Given the description of an element on the screen output the (x, y) to click on. 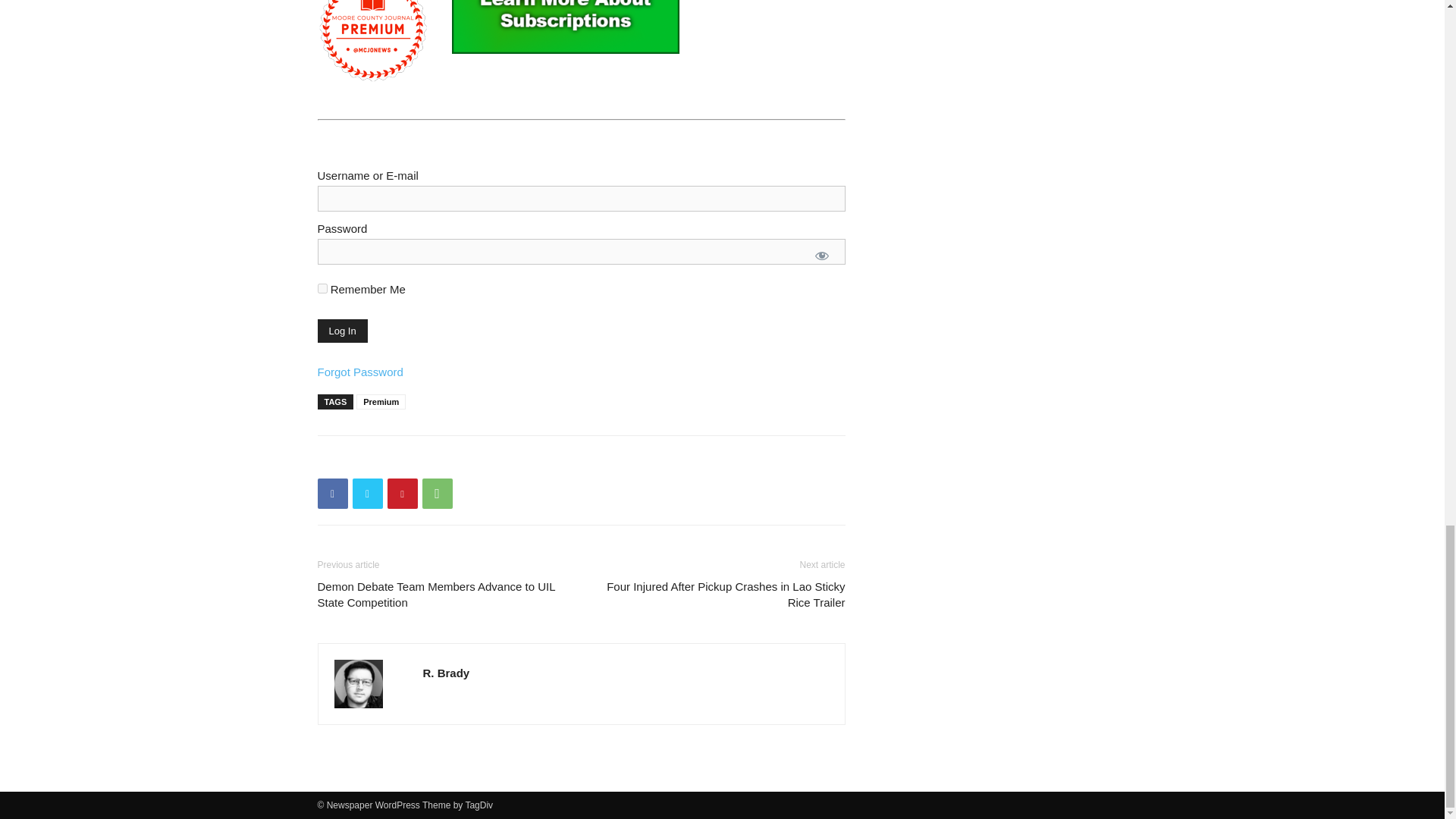
bottomFacebookLike (430, 459)
Facebook (332, 493)
Twitter (366, 493)
WhatsApp (436, 493)
Log In (341, 331)
forever (321, 288)
Pinterest (401, 493)
